Given the description of an element on the screen output the (x, y) to click on. 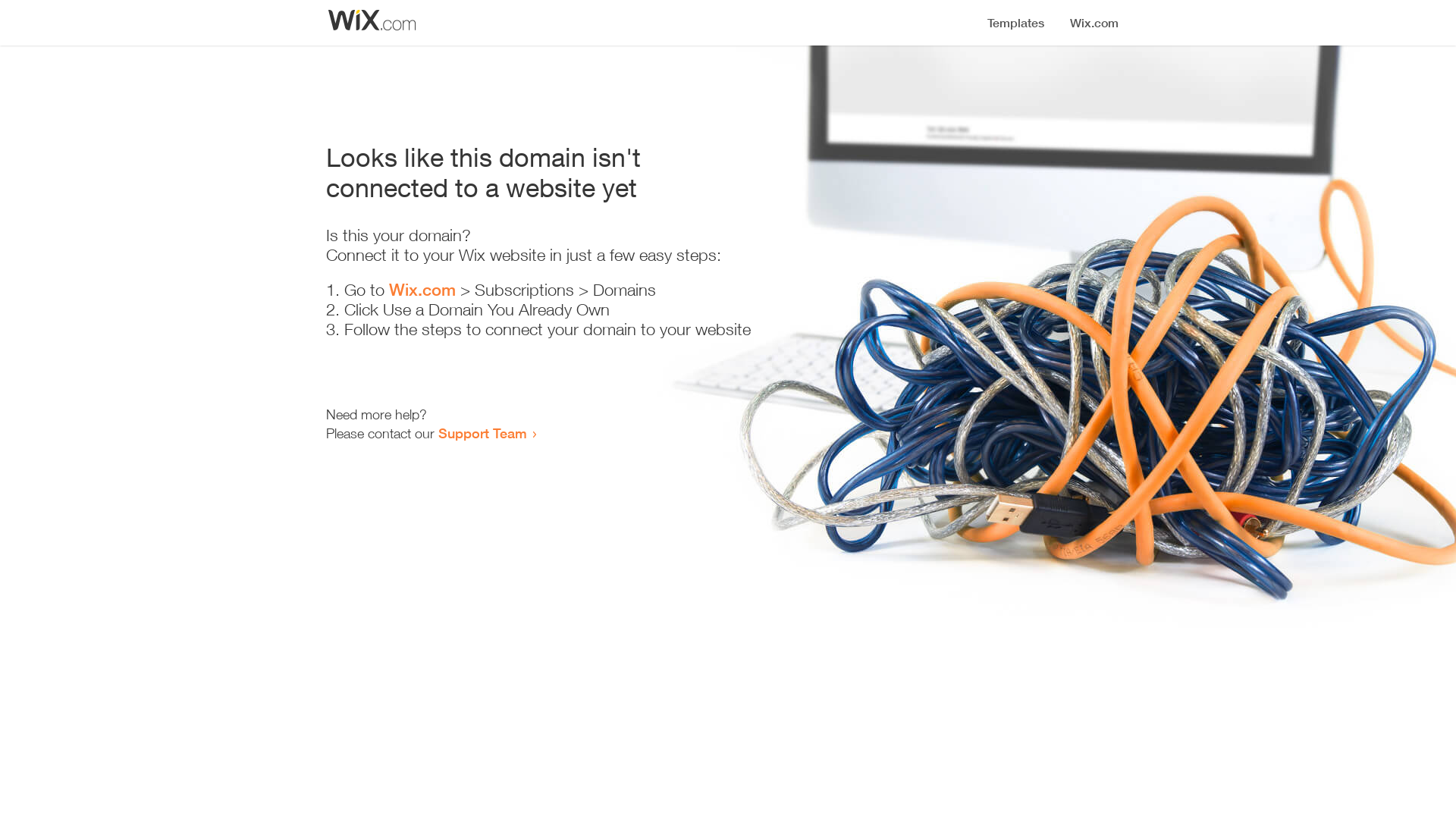
Support Team Element type: text (482, 432)
Wix.com Element type: text (422, 289)
